Given the description of an element on the screen output the (x, y) to click on. 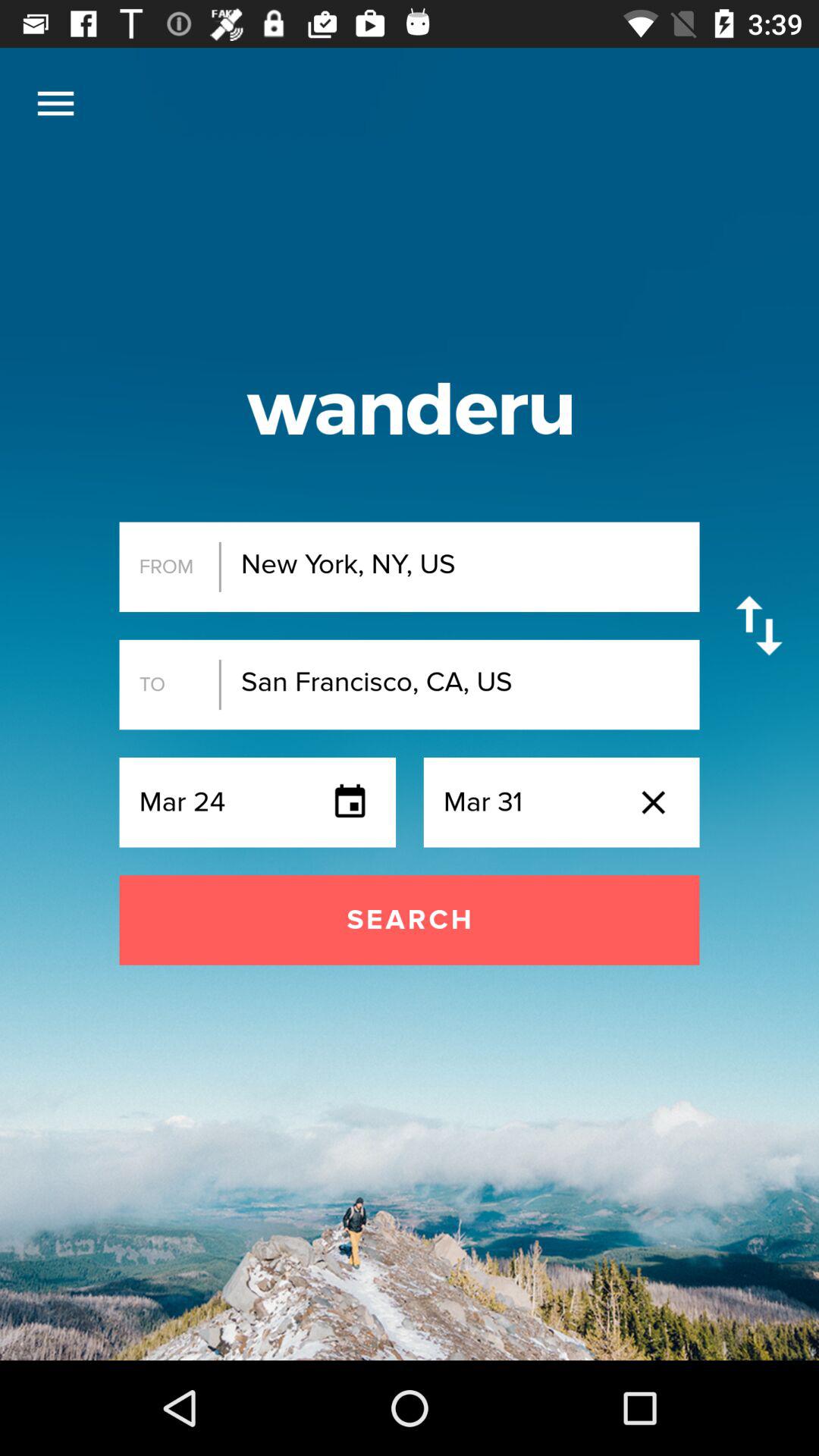
turn on item next to the new york ny (759, 625)
